Given the description of an element on the screen output the (x, y) to click on. 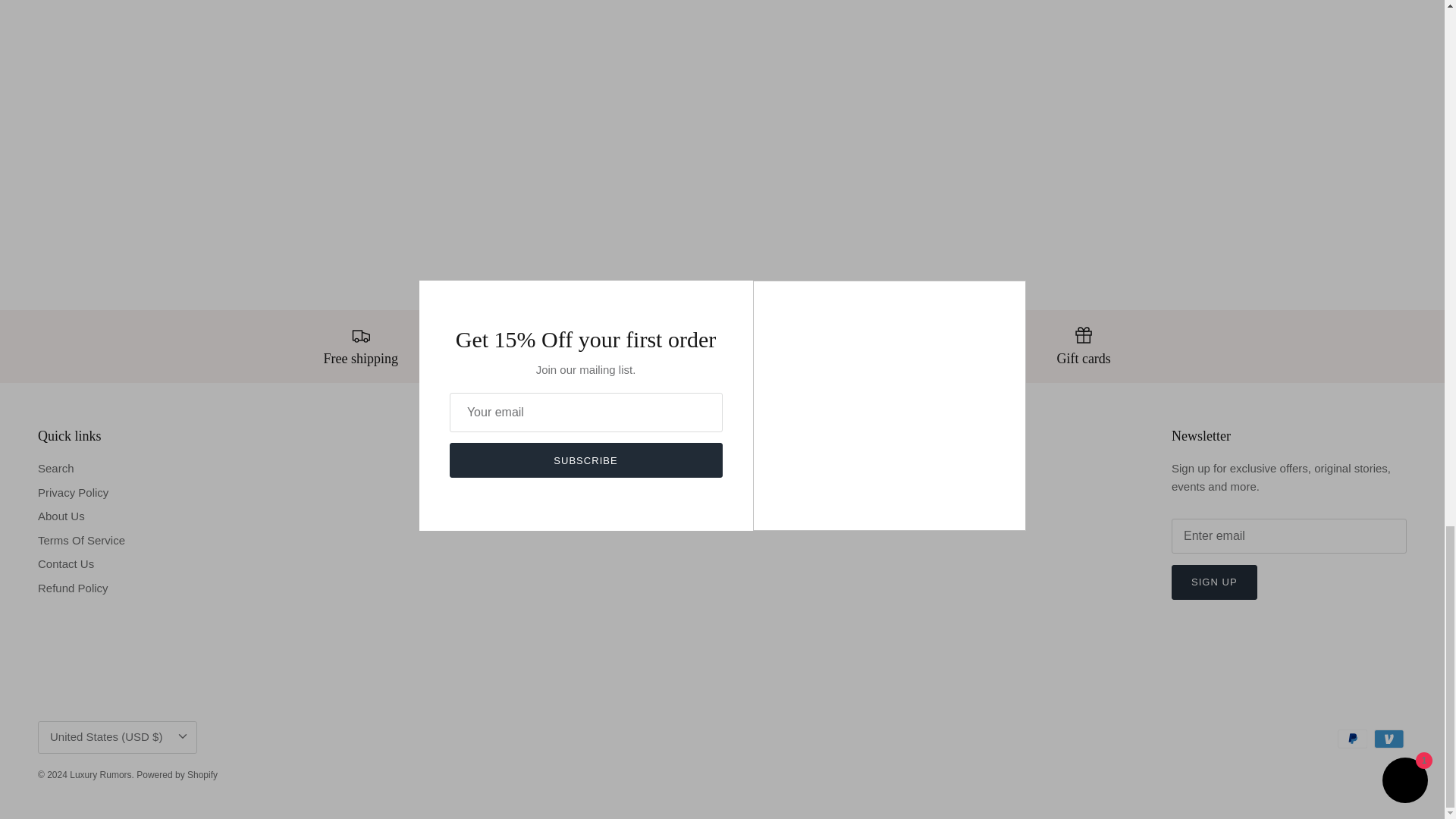
Down (182, 735)
Venmo (1388, 738)
PayPal (1352, 738)
